Given the description of an element on the screen output the (x, y) to click on. 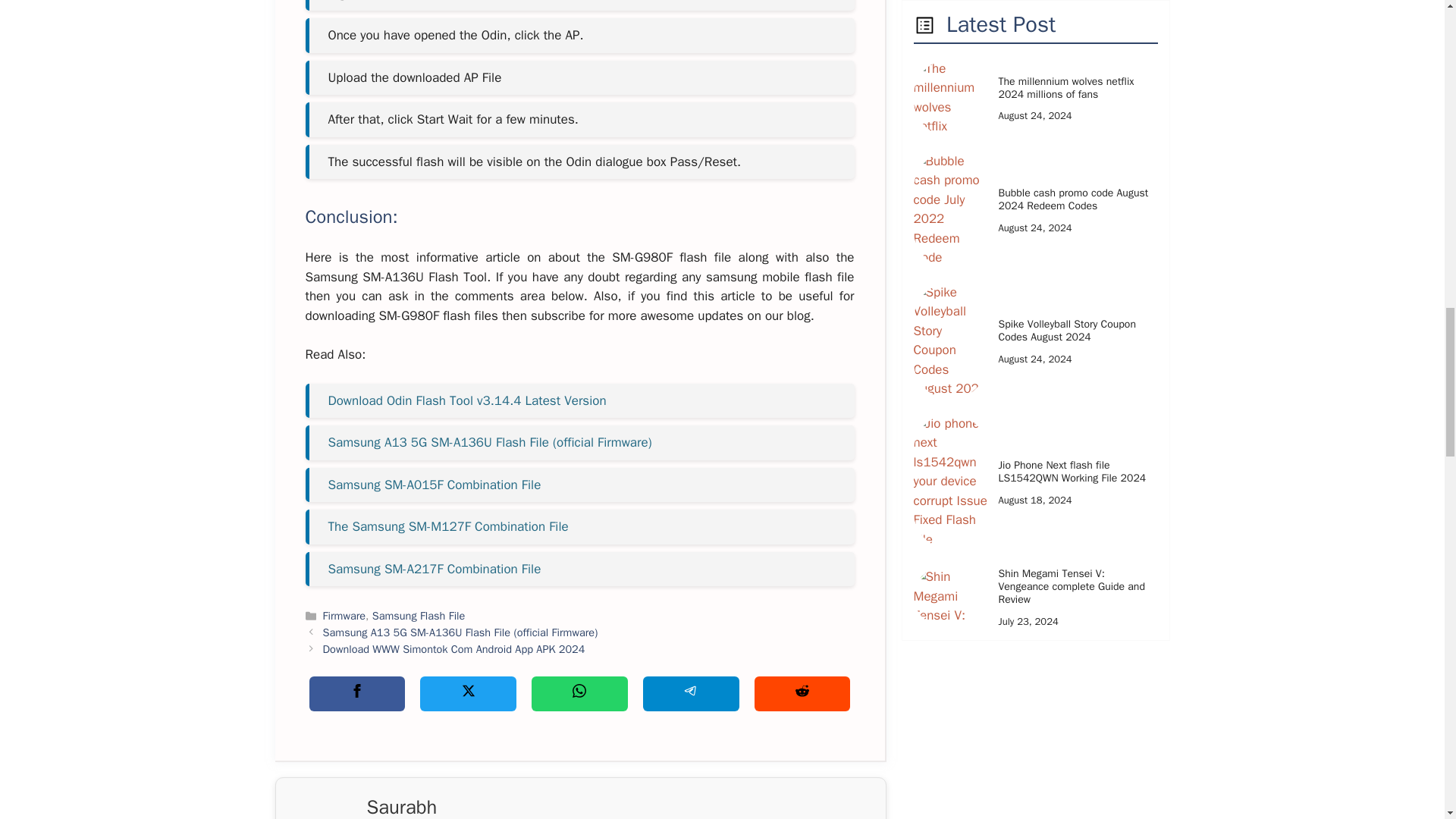
The Samsung SM-M127F Combination File (447, 526)
Samsung SM-A015F Combination File (433, 484)
Firmware (344, 615)
Download Odin Flash Tool v3.14.4 Latest Version (466, 400)
Samsung SM-A217F Combination File (433, 569)
